Given the description of an element on the screen output the (x, y) to click on. 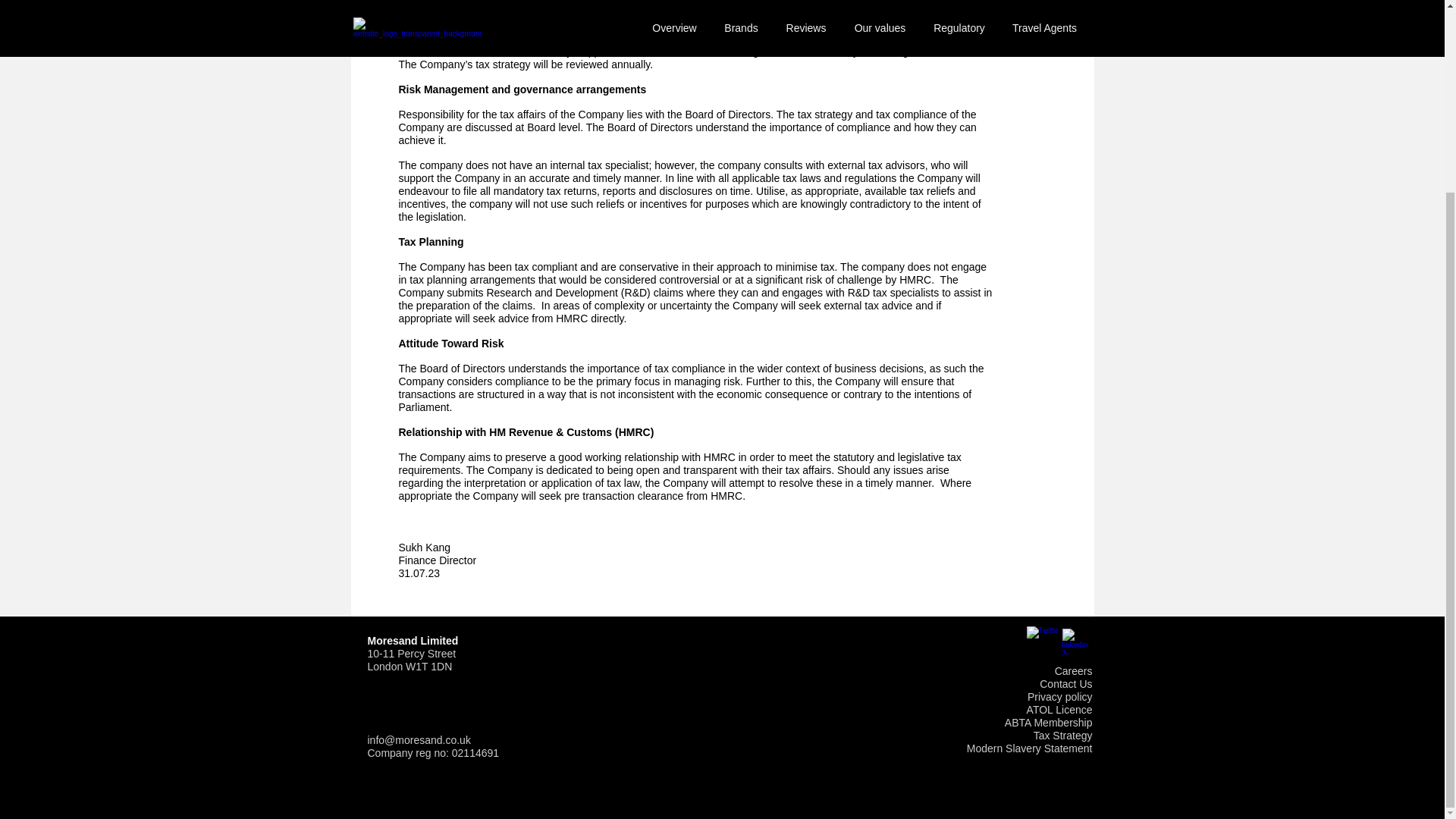
ATOL Licence (1059, 709)
ABTA Membershi (1045, 722)
Tax Strategy (1063, 736)
Modern Slavery Statement (1029, 748)
Careers (1073, 671)
Contact Us (1065, 684)
Privacy policy (1060, 696)
